Given the description of an element on the screen output the (x, y) to click on. 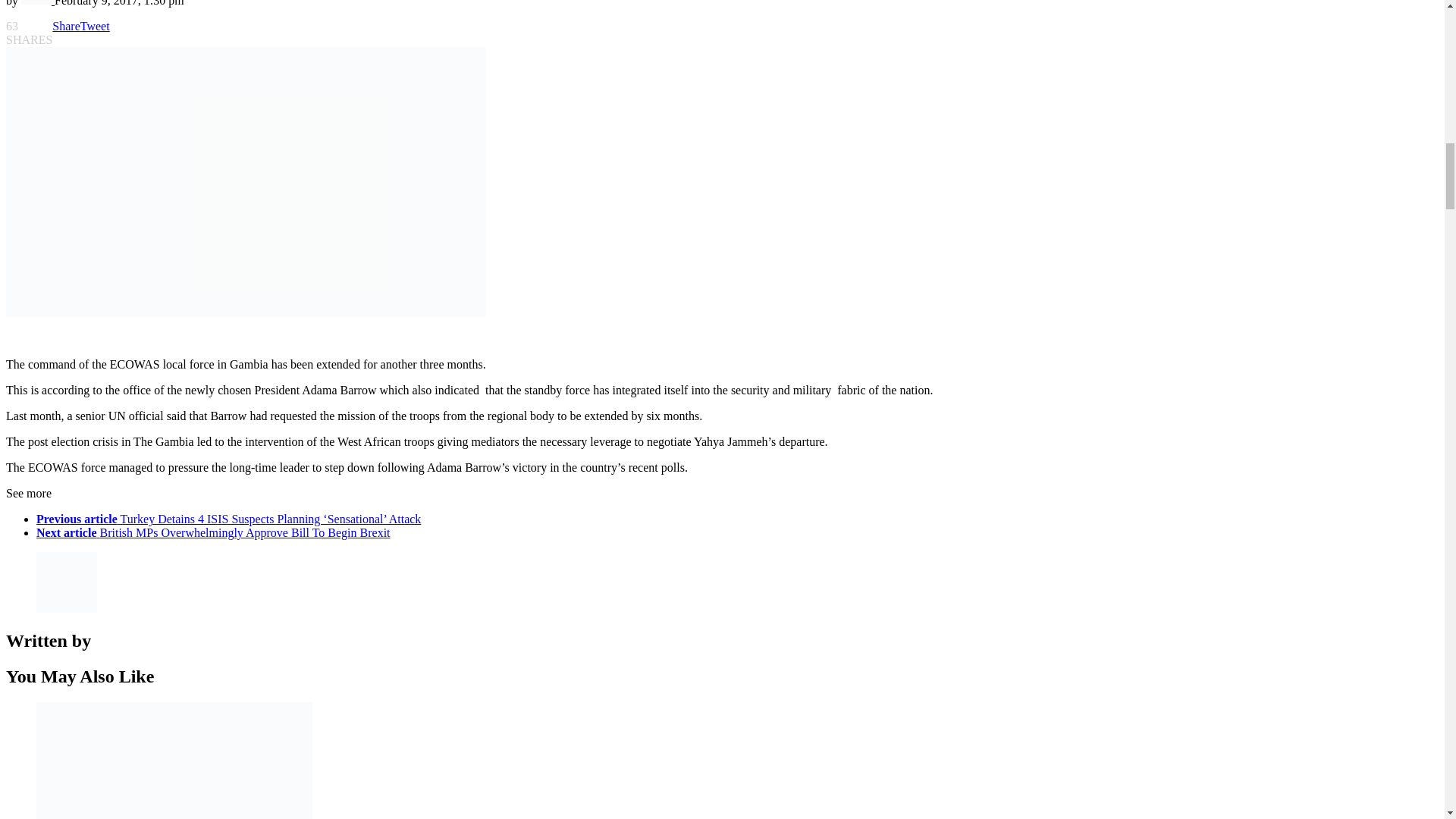
Posts by  (38, 3)
